Given the description of an element on the screen output the (x, y) to click on. 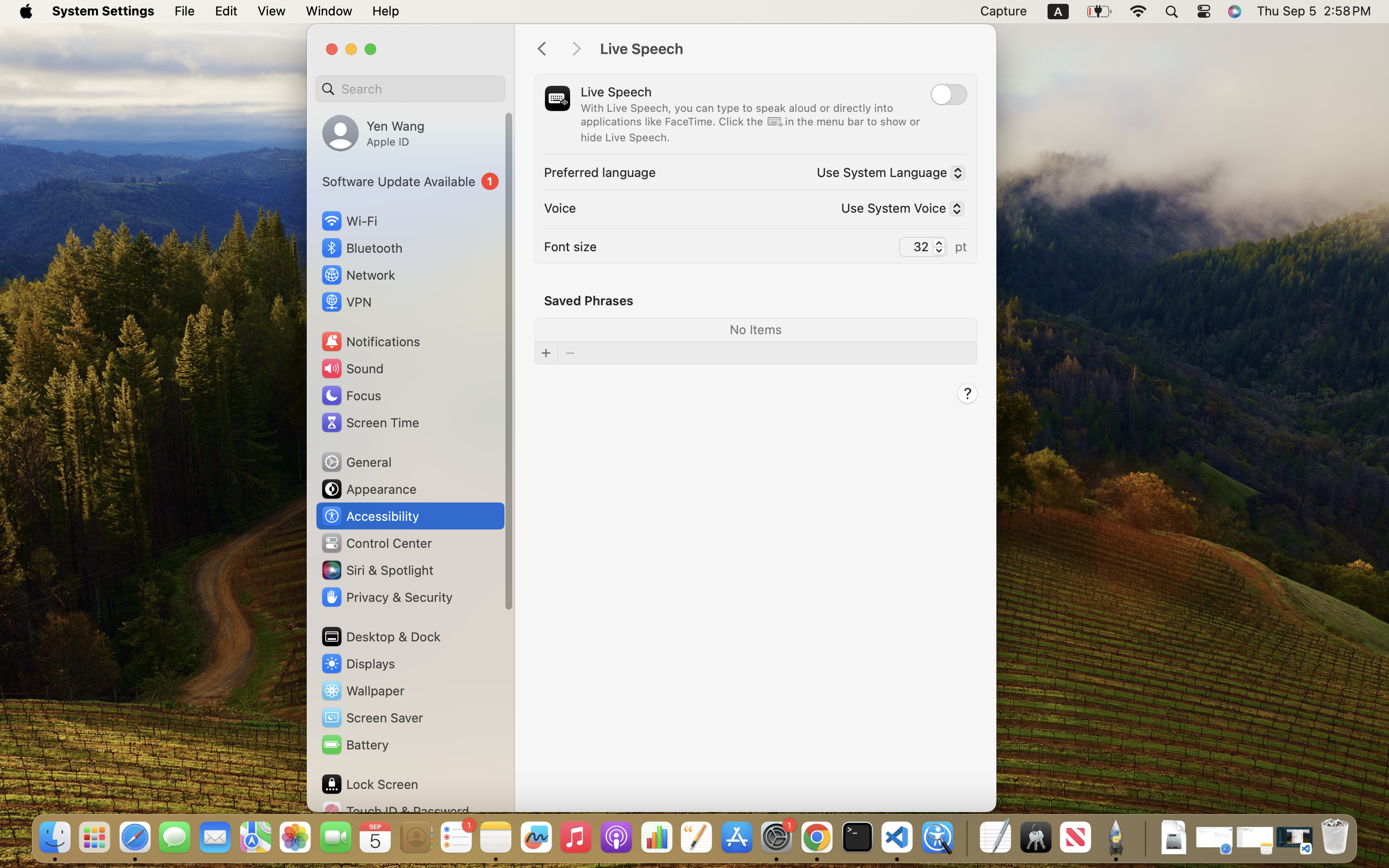
Live Speech Element type: AXStaticText (788, 49)
Siri & Spotlight Element type: AXStaticText (376, 569)
0.4285714328289032 Element type: AXDockItem (965, 837)
Screen Saver Element type: AXStaticText (371, 717)
